Given the description of an element on the screen output the (x, y) to click on. 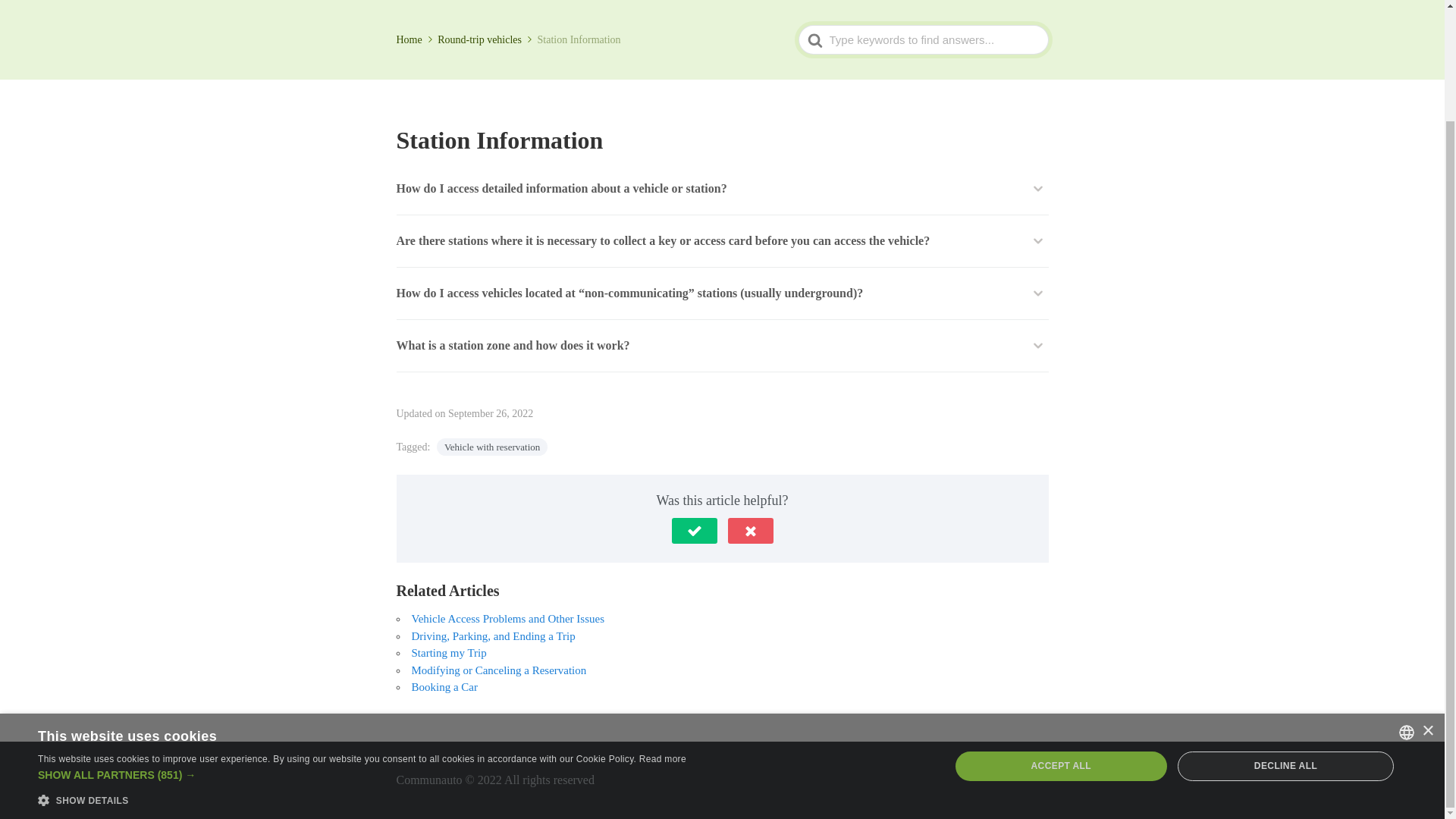
Read more (662, 627)
Vehicle with reservation (491, 446)
Booking a Car (443, 686)
Driving, Parking, and Ending a Trip (492, 635)
Modifying or Canceling a Reservation (498, 670)
Vehicle Access Problems and Other Issues (507, 618)
Starting my Trip (448, 653)
Home (414, 39)
Round-trip vehicles (486, 39)
